Given the description of an element on the screen output the (x, y) to click on. 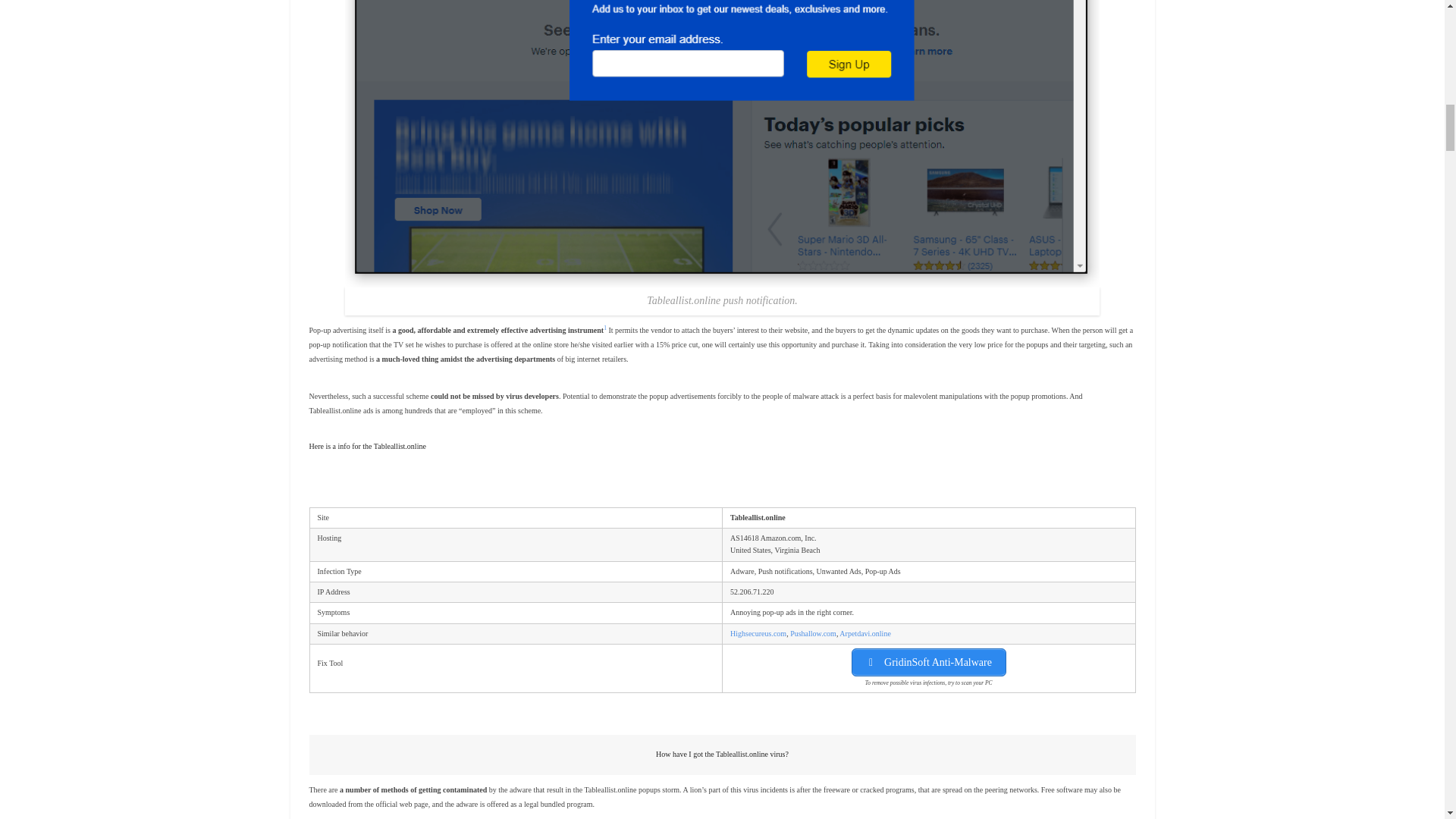
GridinSoft Anti-Malware (928, 662)
Arpetdavi.online (864, 633)
Pushallow.com (812, 633)
Highsecureus.com (758, 633)
